Given the description of an element on the screen output the (x, y) to click on. 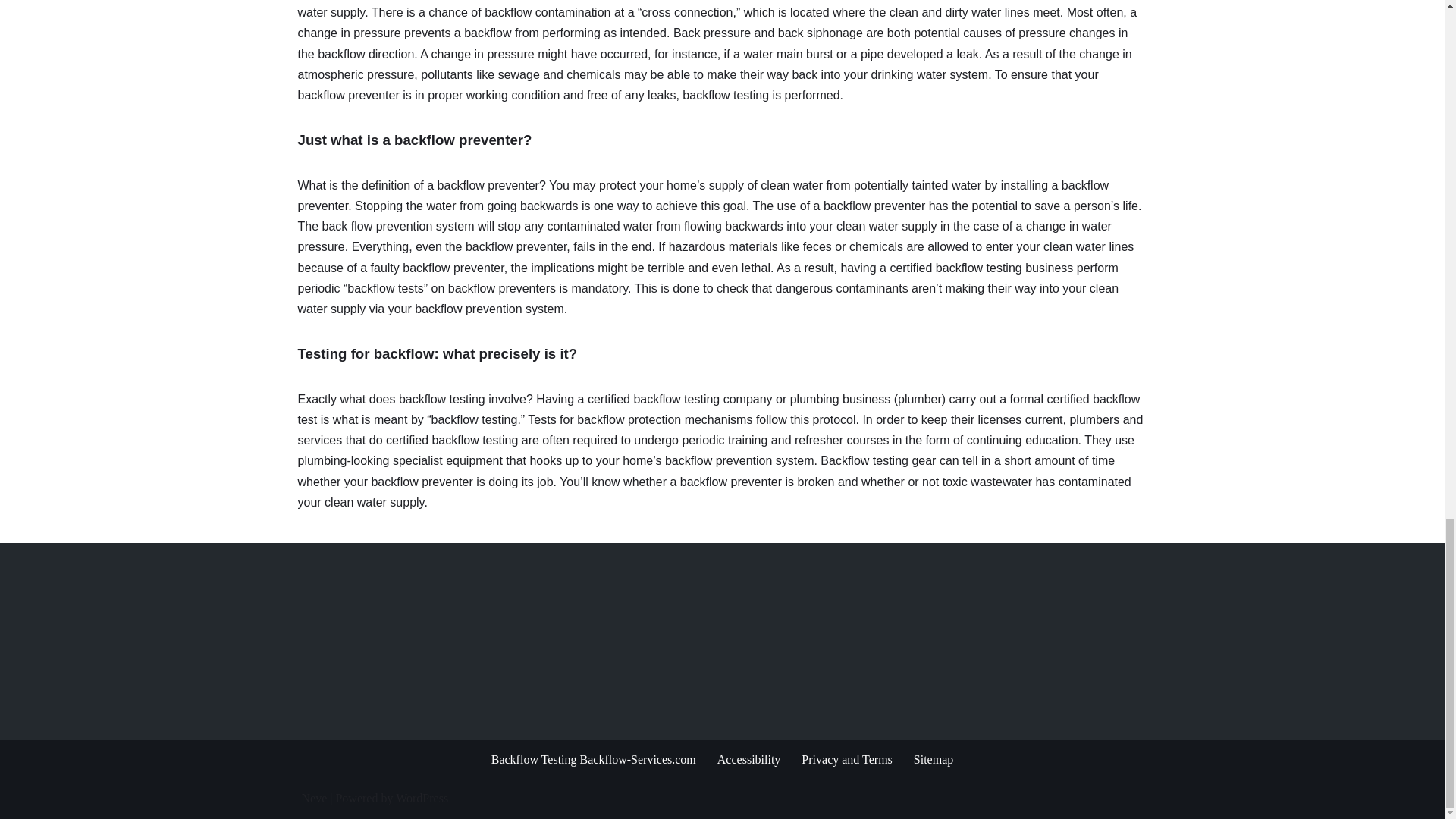
Accessibility (748, 759)
Privacy and Terms (846, 759)
Sitemap (933, 759)
Neve (314, 797)
Backflow Testing Backflow-Services.com (593, 759)
WordPress (422, 797)
